Given the description of an element on the screen output the (x, y) to click on. 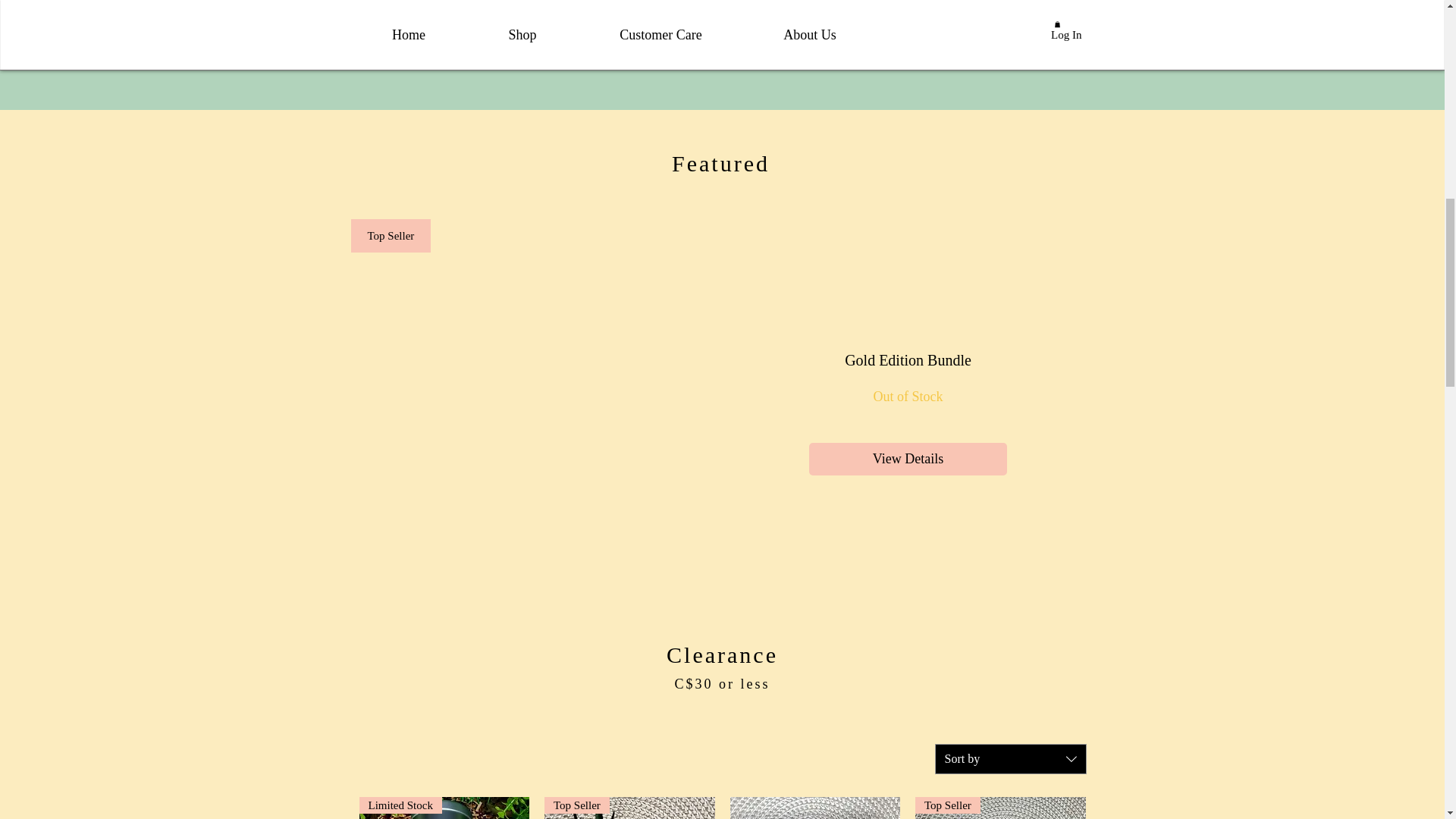
View Details (908, 459)
Limited Stock (444, 807)
Sort by (1010, 758)
Top Seller (1000, 807)
